Given the description of an element on the screen output the (x, y) to click on. 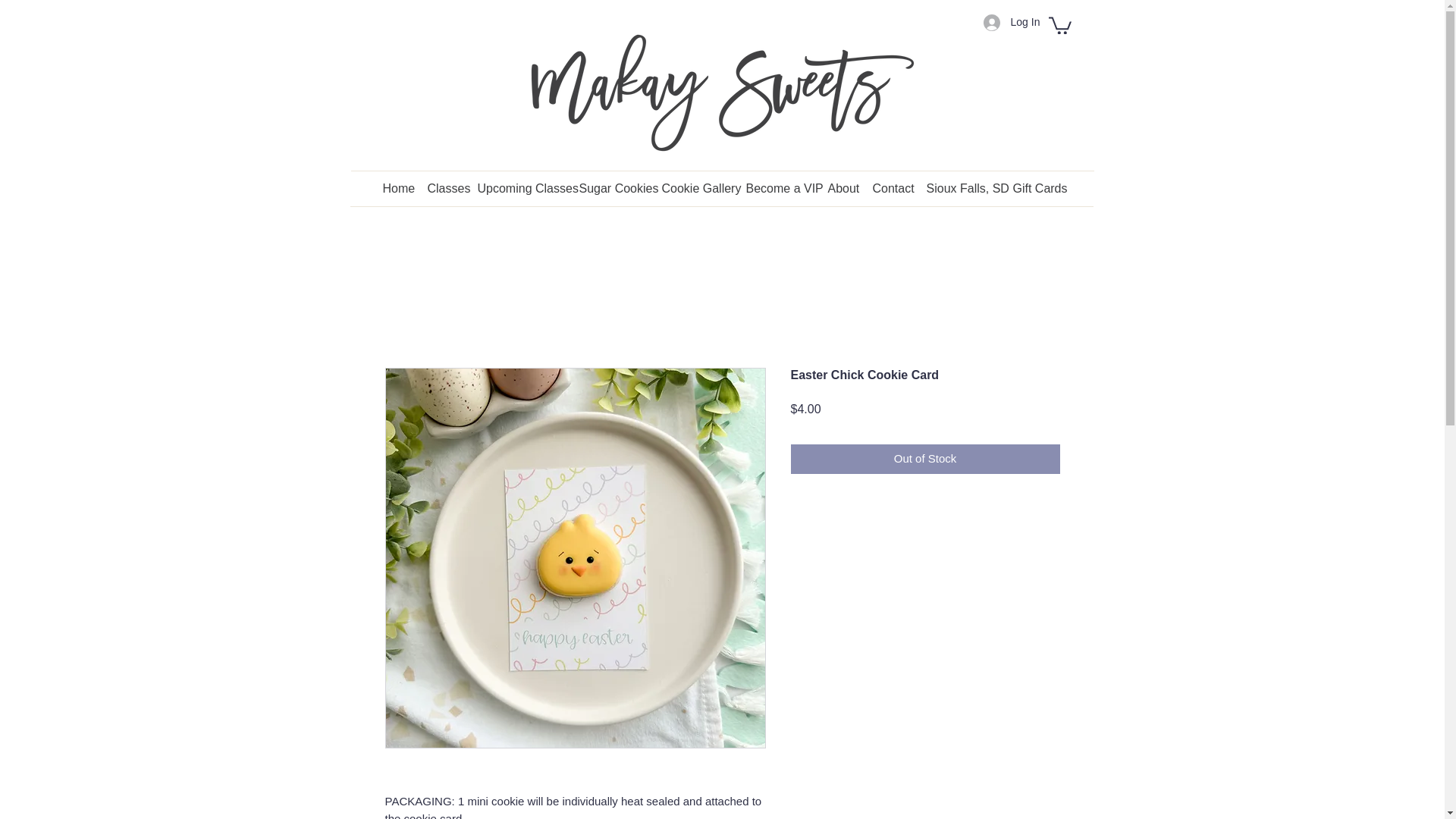
Out of Stock (924, 459)
Gift Cards (1038, 185)
About (842, 185)
Sugar Cookies (612, 185)
Sioux Falls, SD (962, 185)
Upcoming Classes (521, 185)
Contact (891, 185)
Classes (445, 185)
Cookie Gallery (695, 185)
Log In (1006, 22)
Home (396, 185)
Become a VIP (779, 185)
